Given the description of an element on the screen output the (x, y) to click on. 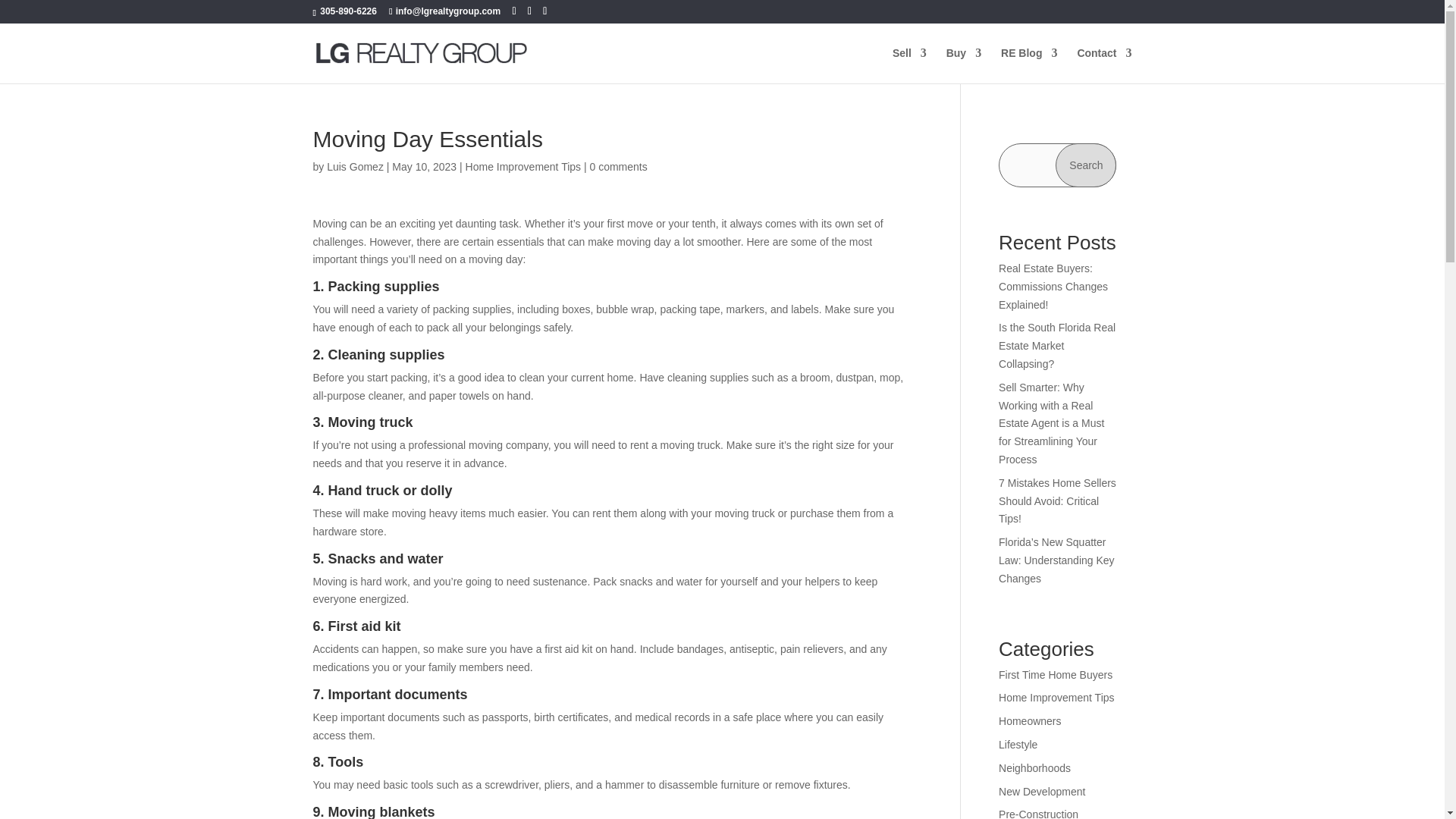
Sell (909, 65)
Posts by Luis Gomez (355, 166)
Home Improvement Tips (522, 166)
Contact (1104, 65)
0 comments (618, 166)
Buy (963, 65)
RE Blog (1029, 65)
Luis Gomez (355, 166)
